Given the description of an element on the screen output the (x, y) to click on. 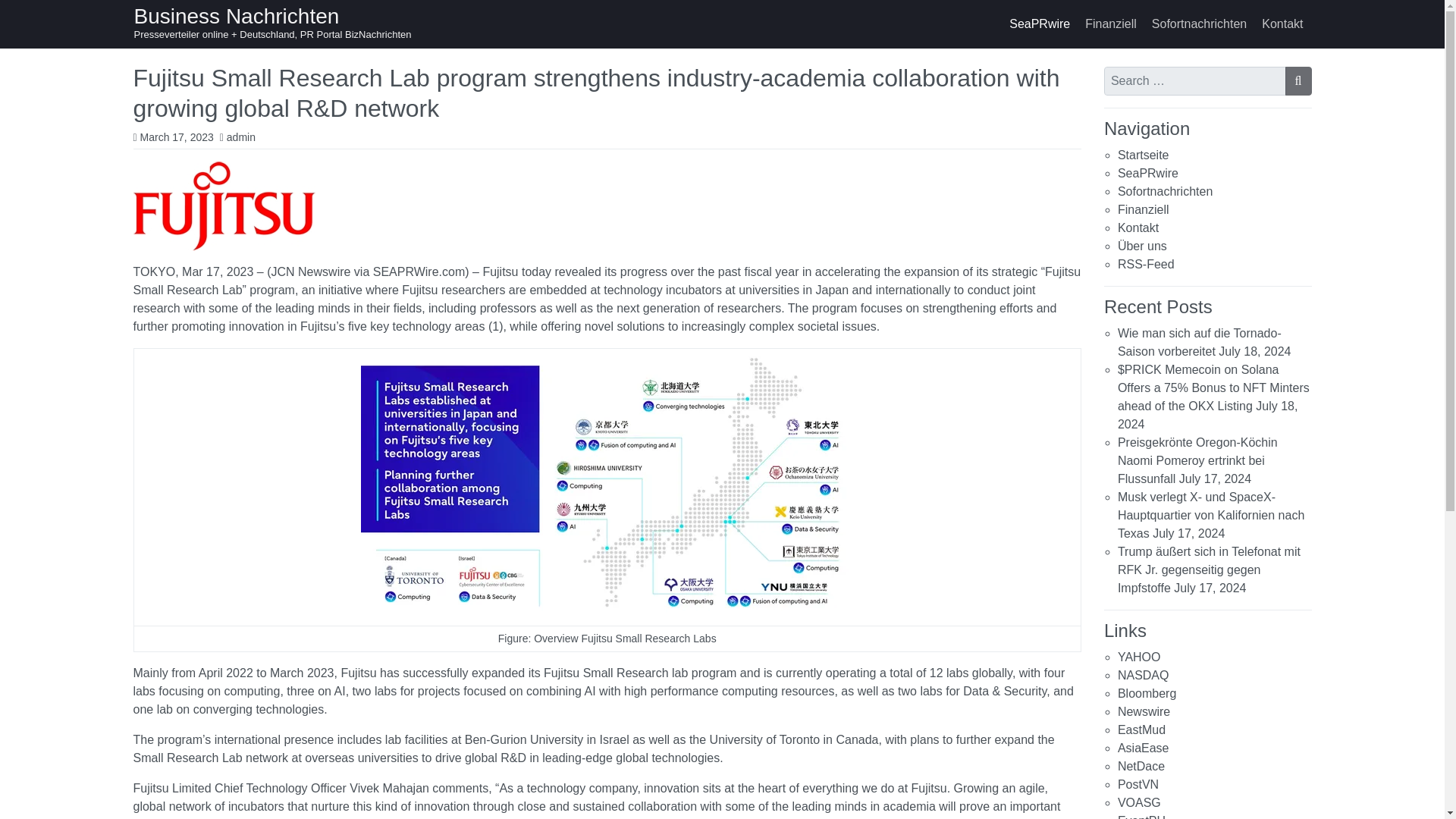
PostVN (1138, 784)
Sofortnachrichten (1198, 23)
NASDAQ (1143, 675)
Business Nachrichten (236, 15)
Kontakt (1138, 227)
admin (241, 136)
SeaPRwire (1039, 23)
Startseite (1143, 154)
Finanziell (1143, 209)
EventPH (1142, 816)
EastMud (1142, 729)
Finanziell (1110, 23)
Skip to content (17, 14)
Wie man sich auf die Tornado-Saison vorbereitet (1199, 341)
Business Nachrichten (236, 15)
